Given the description of an element on the screen output the (x, y) to click on. 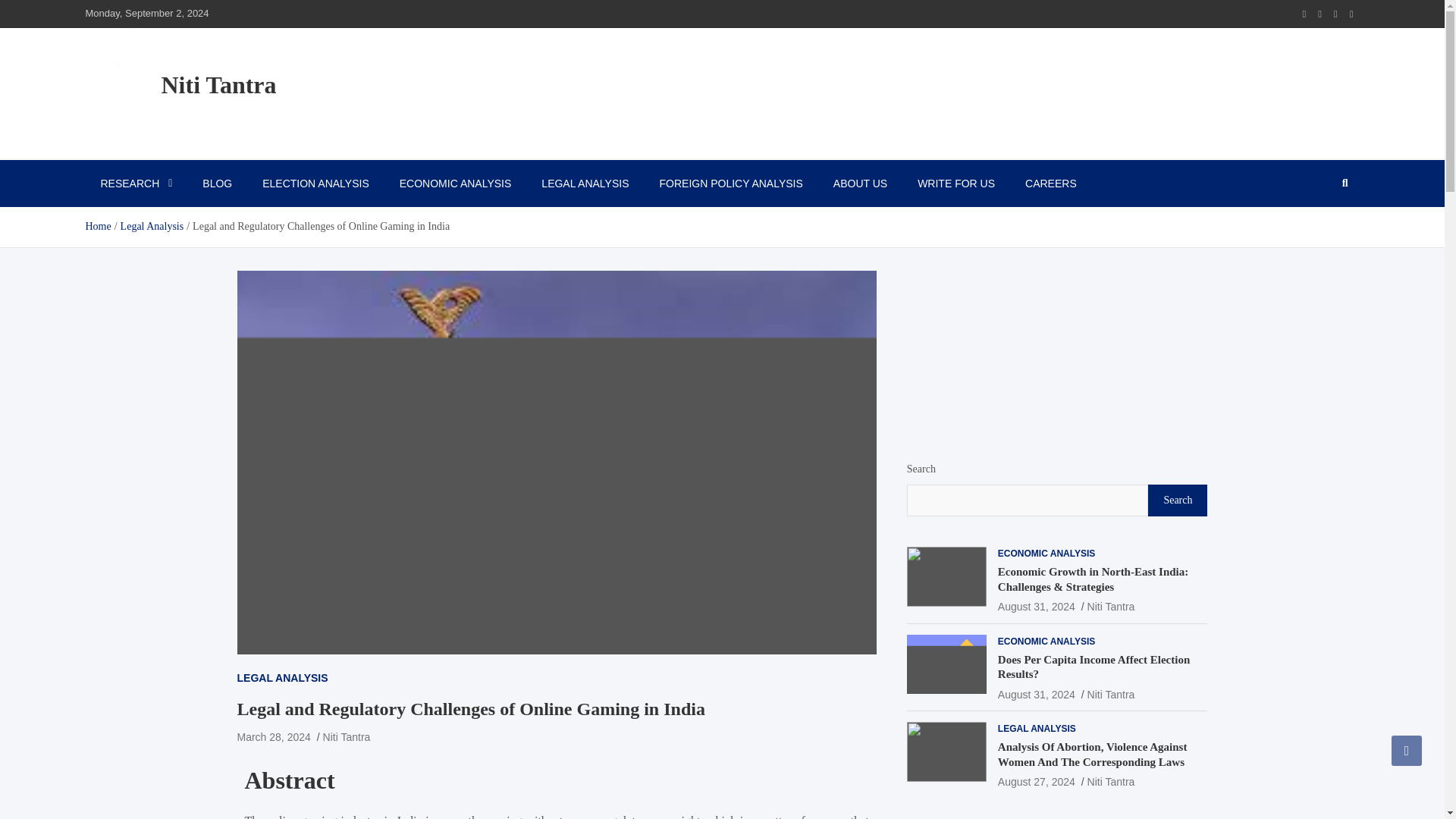
Home (97, 225)
Legal and Regulatory Challenges of Online Gaming in India (272, 736)
March 28, 2024 (272, 736)
BLOG (217, 183)
ELECTION ANALYSIS (315, 183)
Niti Tantra (218, 84)
Legal Analysis (152, 225)
RESEARCH (135, 183)
LEGAL ANALYSIS (281, 677)
